Given the description of an element on the screen output the (x, y) to click on. 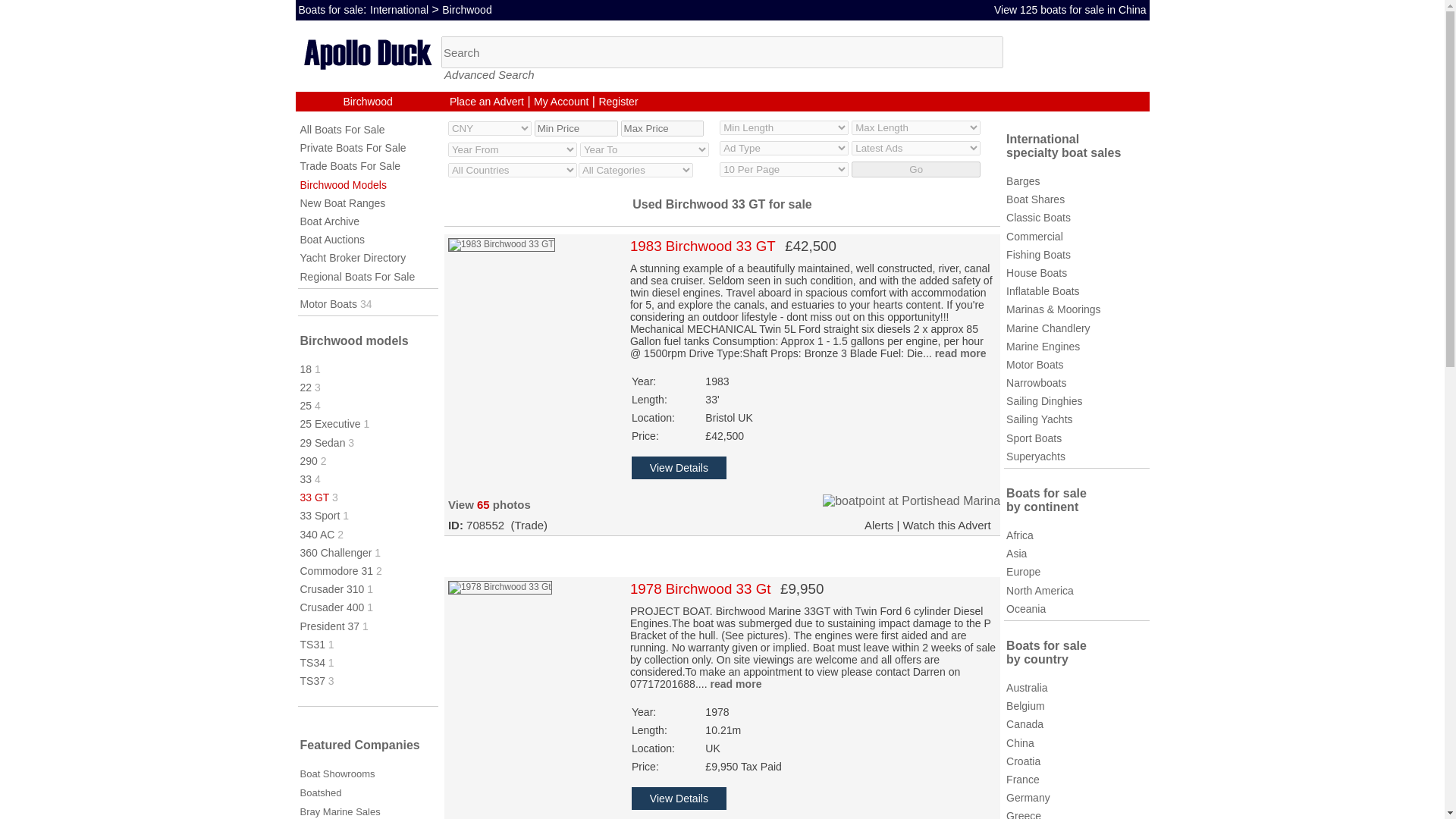
TS31 (311, 644)
My Account (561, 101)
New Boat Ranges (342, 203)
View 124 boats for sale in China (1070, 9)
33 (306, 479)
290 (308, 460)
All Boats For Sale (342, 129)
22 (306, 387)
Birchwood Models (343, 184)
Bray Marine Sales, UK (339, 811)
